Given the description of an element on the screen output the (x, y) to click on. 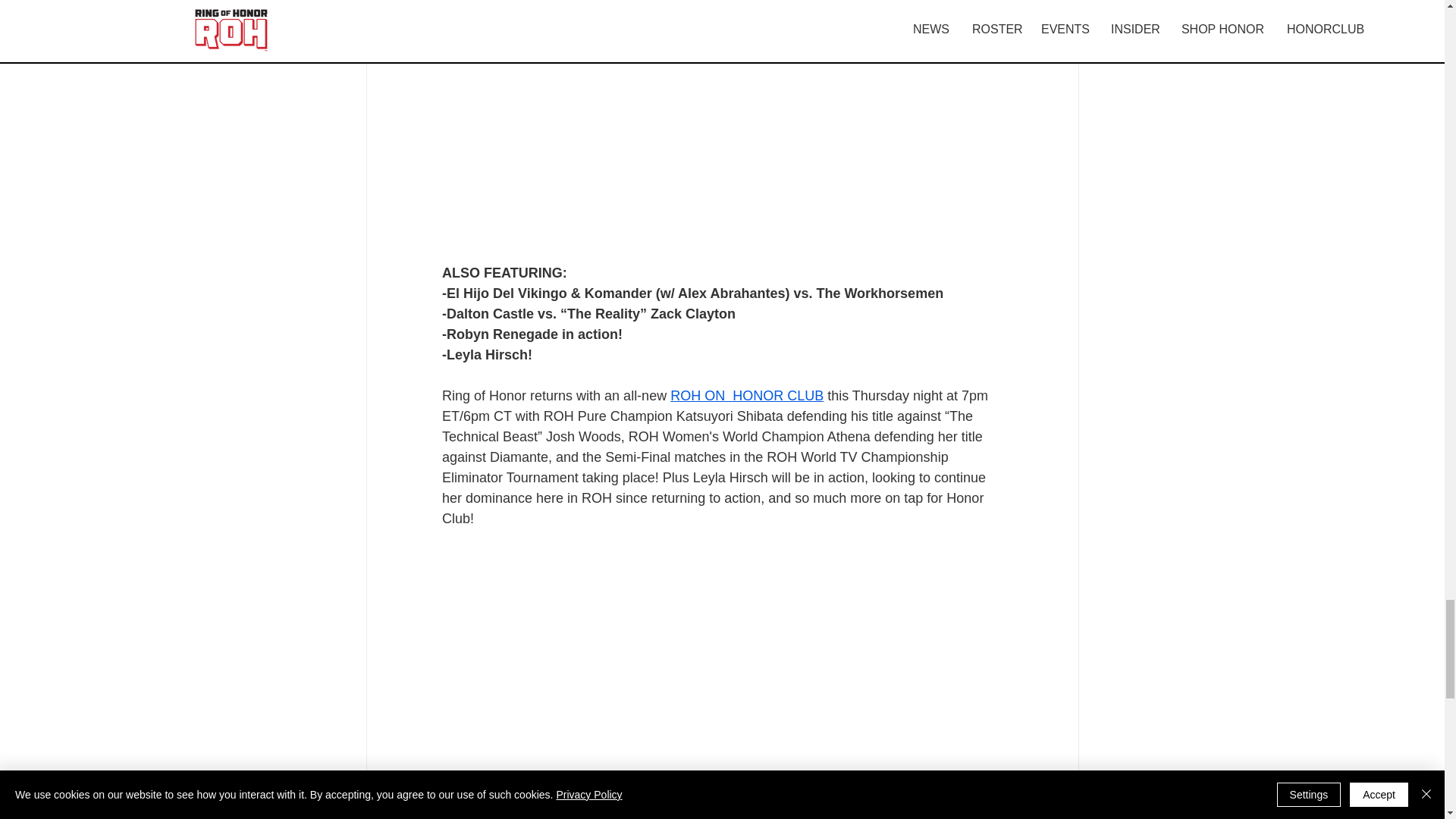
ROH ON  HONOR CLUB (746, 395)
